Given the description of an element on the screen output the (x, y) to click on. 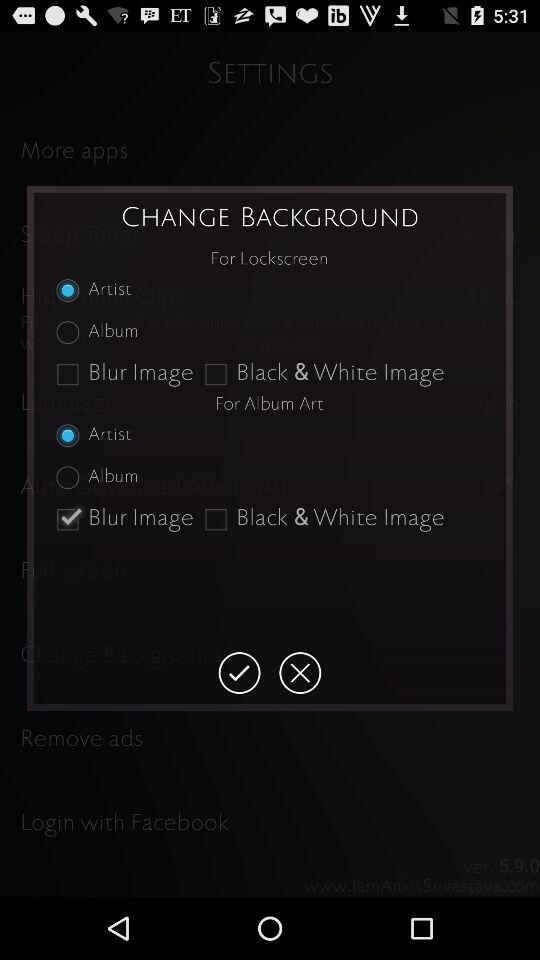
search button (239, 673)
